Given the description of an element on the screen output the (x, y) to click on. 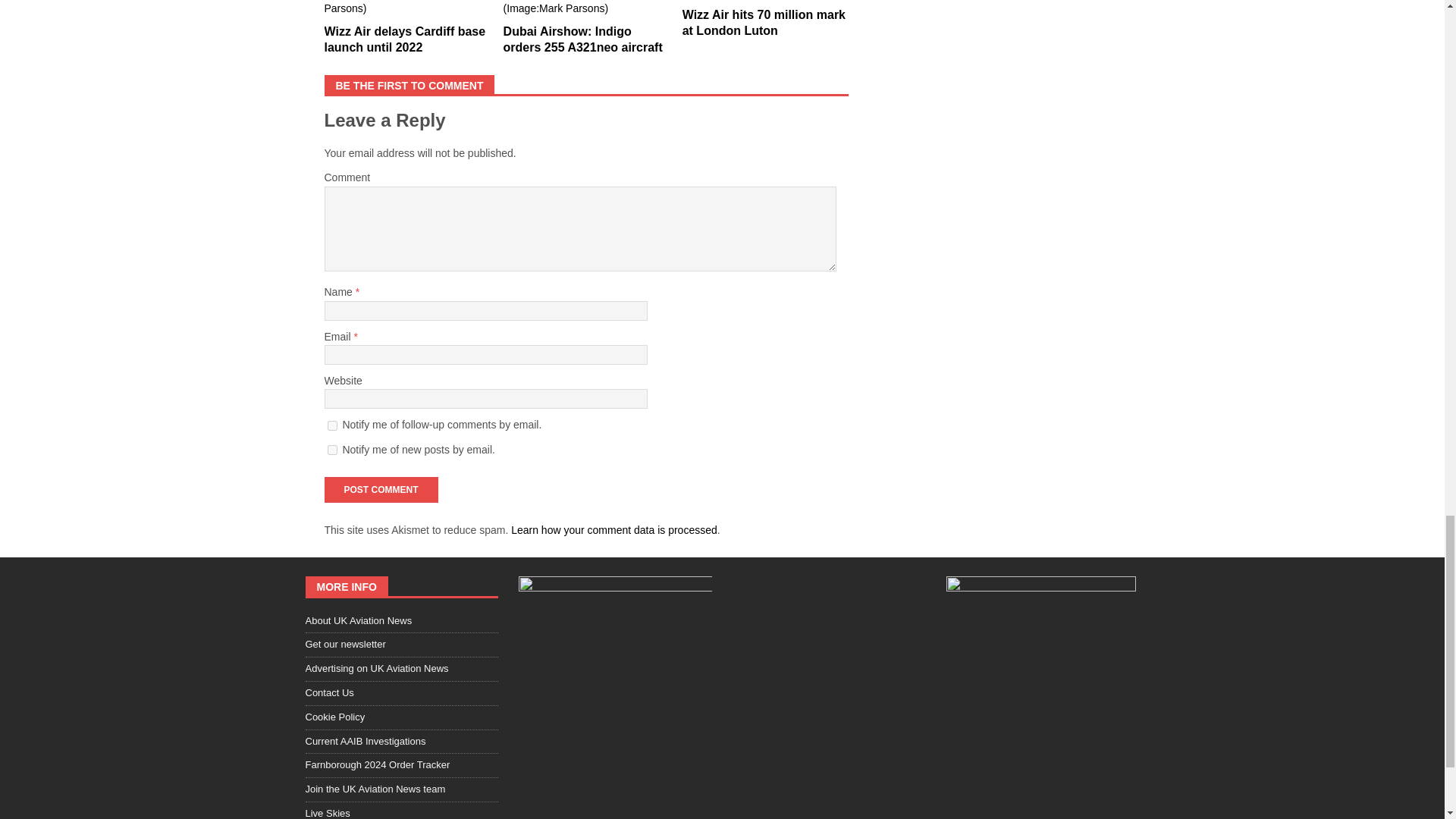
subscribe (332, 450)
Post Comment (381, 489)
subscribe (332, 425)
